Given the description of an element on the screen output the (x, y) to click on. 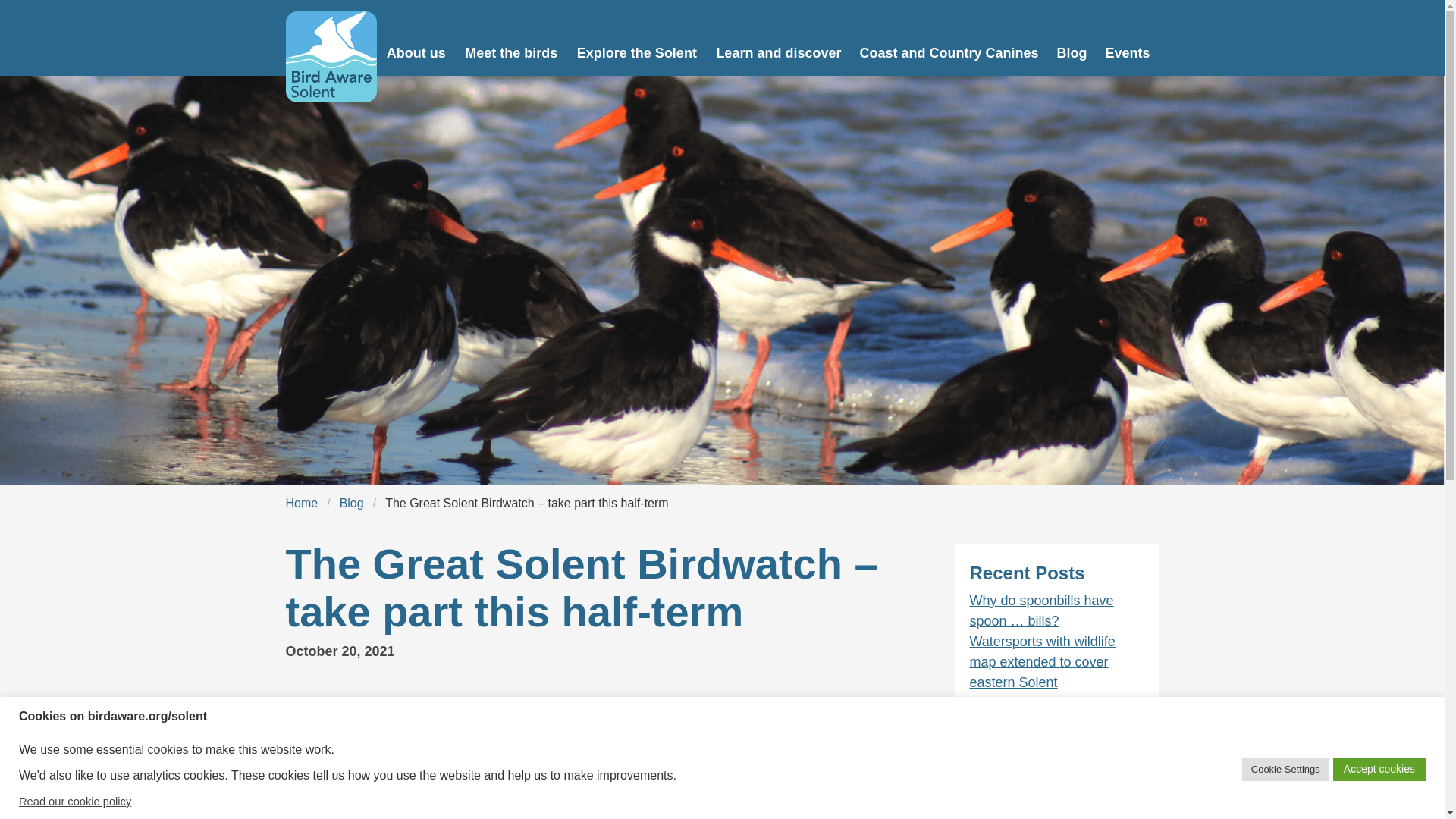
Blog (351, 503)
Great Solent Birdwatch (644, 702)
Explore the Solent (637, 38)
A step-by-step guide to bird pebble painting (1052, 713)
Coast and Country Canines (948, 38)
Meet the birds (511, 38)
Learn and discover (778, 38)
Home (301, 503)
About us (417, 38)
